Given the description of an element on the screen output the (x, y) to click on. 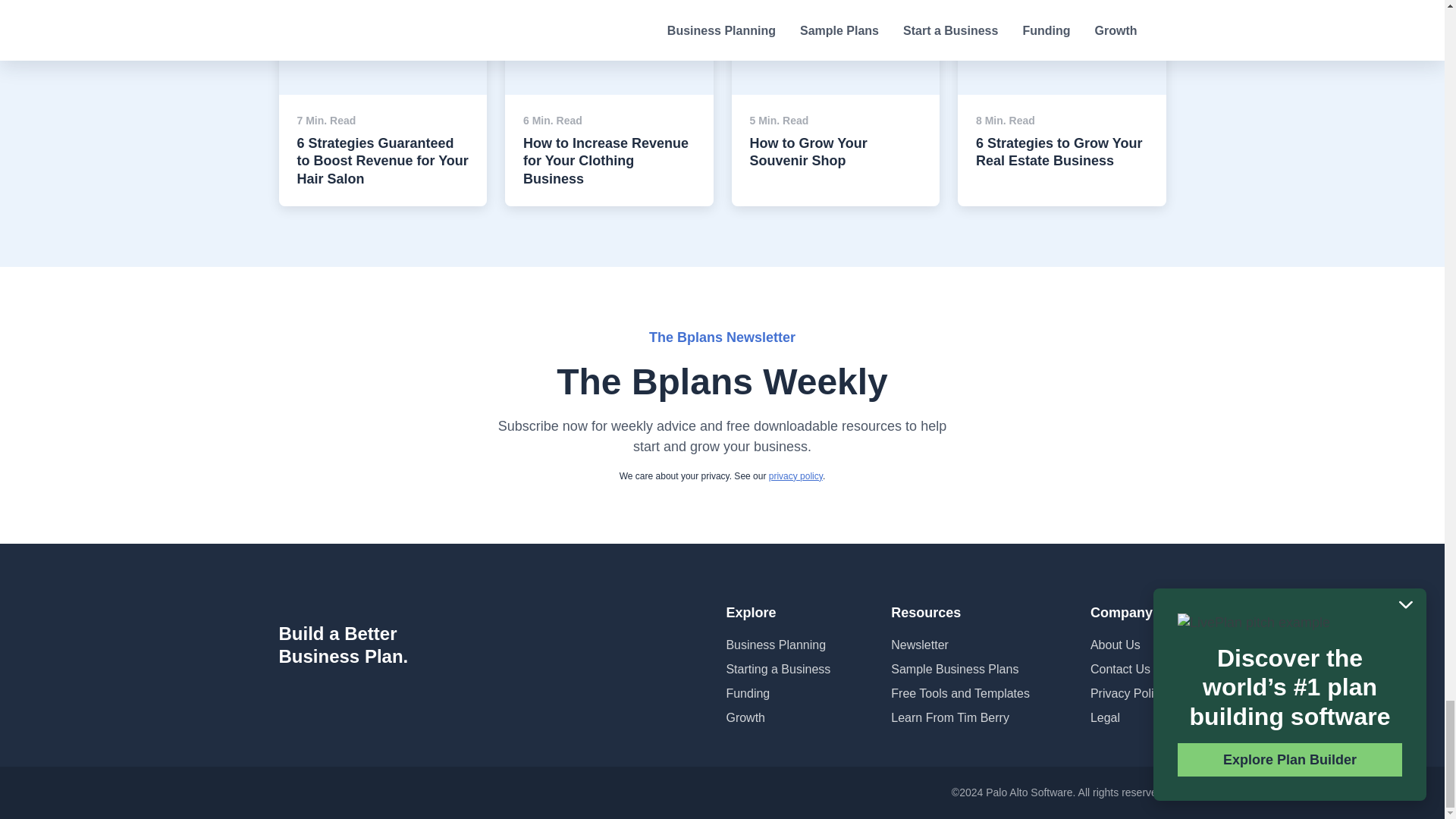
6 strategies to grow your real estate business (383, 22)
How to grow your coffee business (834, 22)
How to increase hotel profit margins (1062, 22)
How to increase revenue for your clothing business (609, 22)
